Given the description of an element on the screen output the (x, y) to click on. 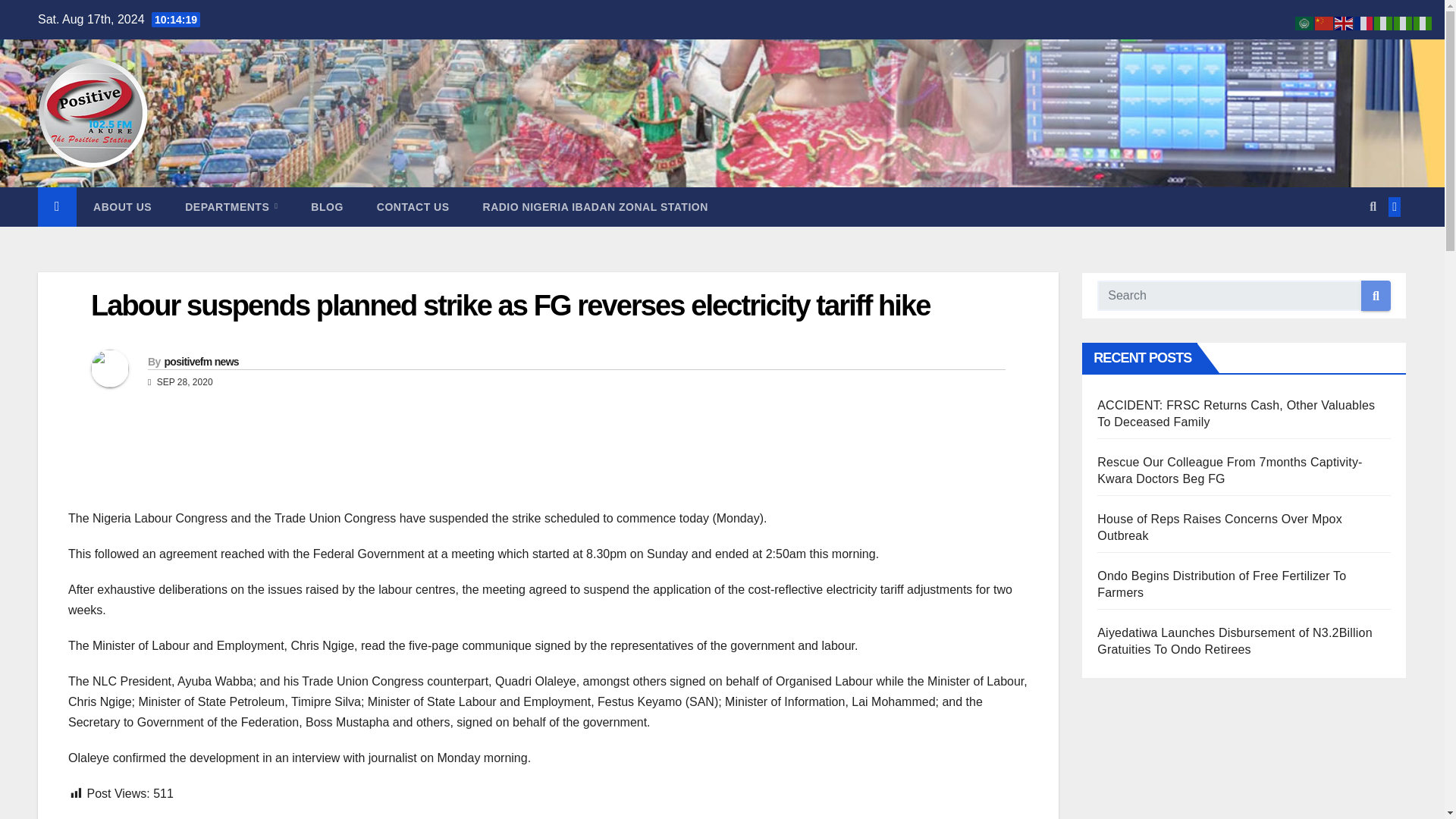
Contact us (412, 206)
DEPARTMENTS (231, 206)
ABOUT US (122, 206)
RADIO NIGERIA IBADAN ZONAL STATION (595, 206)
BLOG (326, 206)
Blog (326, 206)
Departments (231, 206)
positivefm news (200, 361)
Radio Nigeria Ibadan Zonal Station (595, 206)
CONTACT US (412, 206)
